Given the description of an element on the screen output the (x, y) to click on. 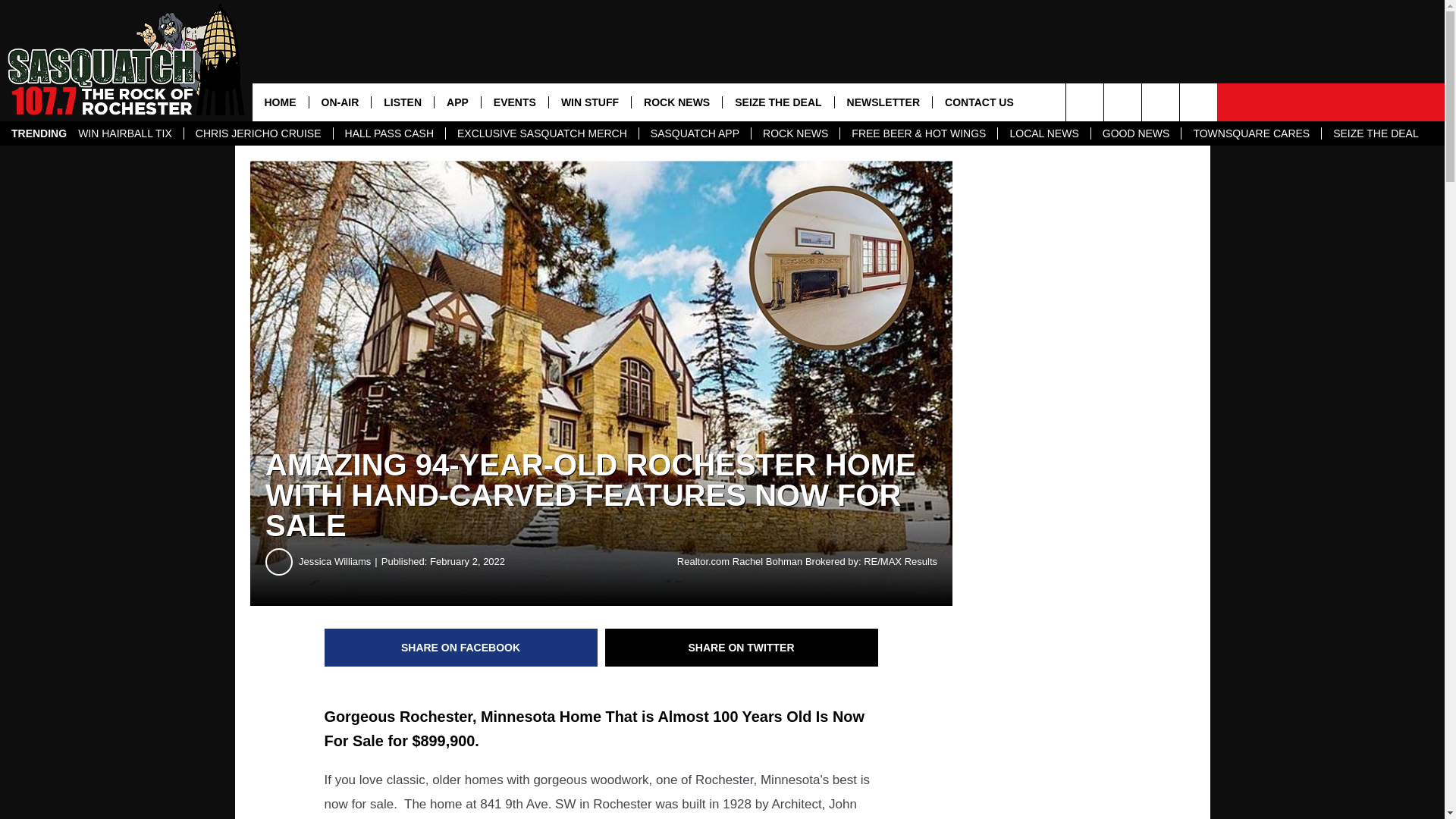
Share on Facebook (460, 647)
EVENTS (514, 102)
APP (456, 102)
ROCK NEWS (676, 102)
WIN STUFF (589, 102)
HOME (279, 102)
CONTACT US (978, 102)
Share on Twitter (741, 647)
ROCK NEWS (795, 133)
CHRIS JERICHO CRUISE (258, 133)
